Given the description of an element on the screen output the (x, y) to click on. 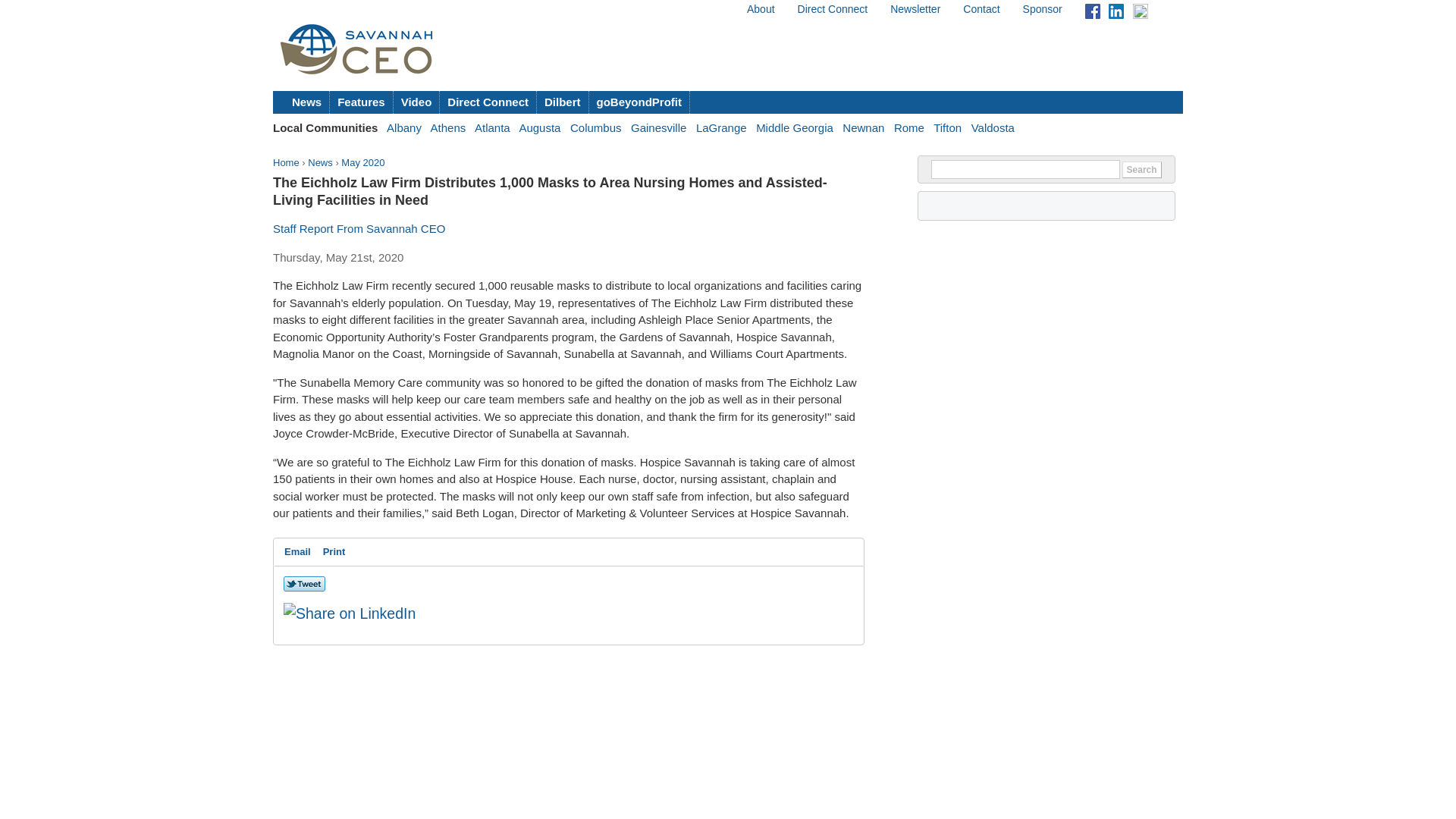
News (320, 162)
Contact (980, 9)
Augusta (539, 127)
Features (361, 101)
Sponsor (1042, 9)
Video (417, 101)
Print (334, 551)
News (306, 101)
May 2020 (362, 162)
goBeyondProfit (639, 101)
Search (1141, 169)
Valdosta (992, 127)
Home (286, 162)
Athens (447, 127)
Middle Georgia (793, 127)
